Given the description of an element on the screen output the (x, y) to click on. 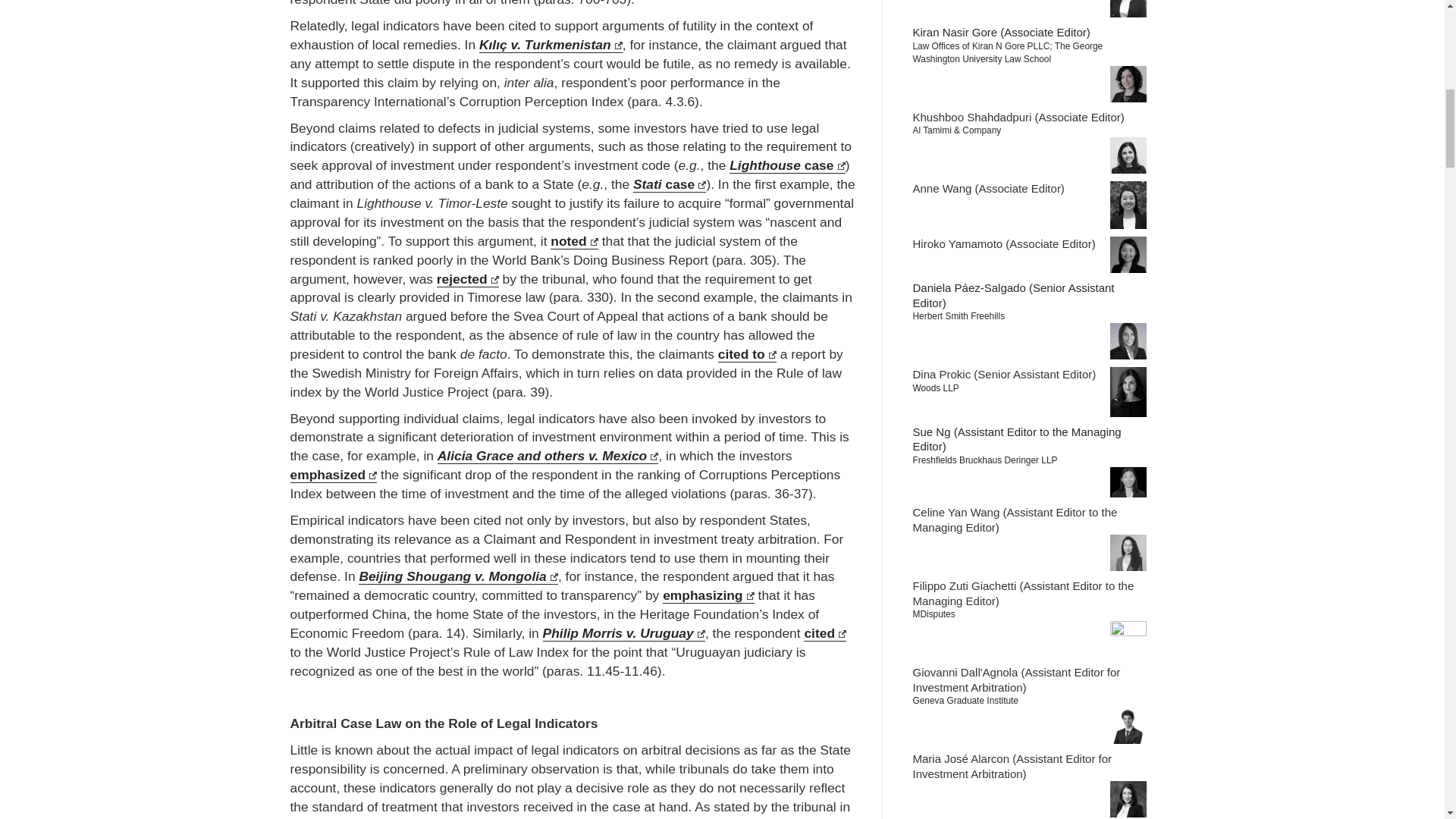
cited (824, 633)
emphasized (333, 474)
Lighthouse case (786, 165)
Alicia Grace and others v. Mexico (548, 455)
Beijing Shougang v. Mongolia (457, 576)
rejected (467, 279)
cited to (746, 354)
emphasizing (708, 595)
Stati case (669, 184)
noted (574, 241)
Philip Morris v. Uruguay (623, 633)
